Given the description of an element on the screen output the (x, y) to click on. 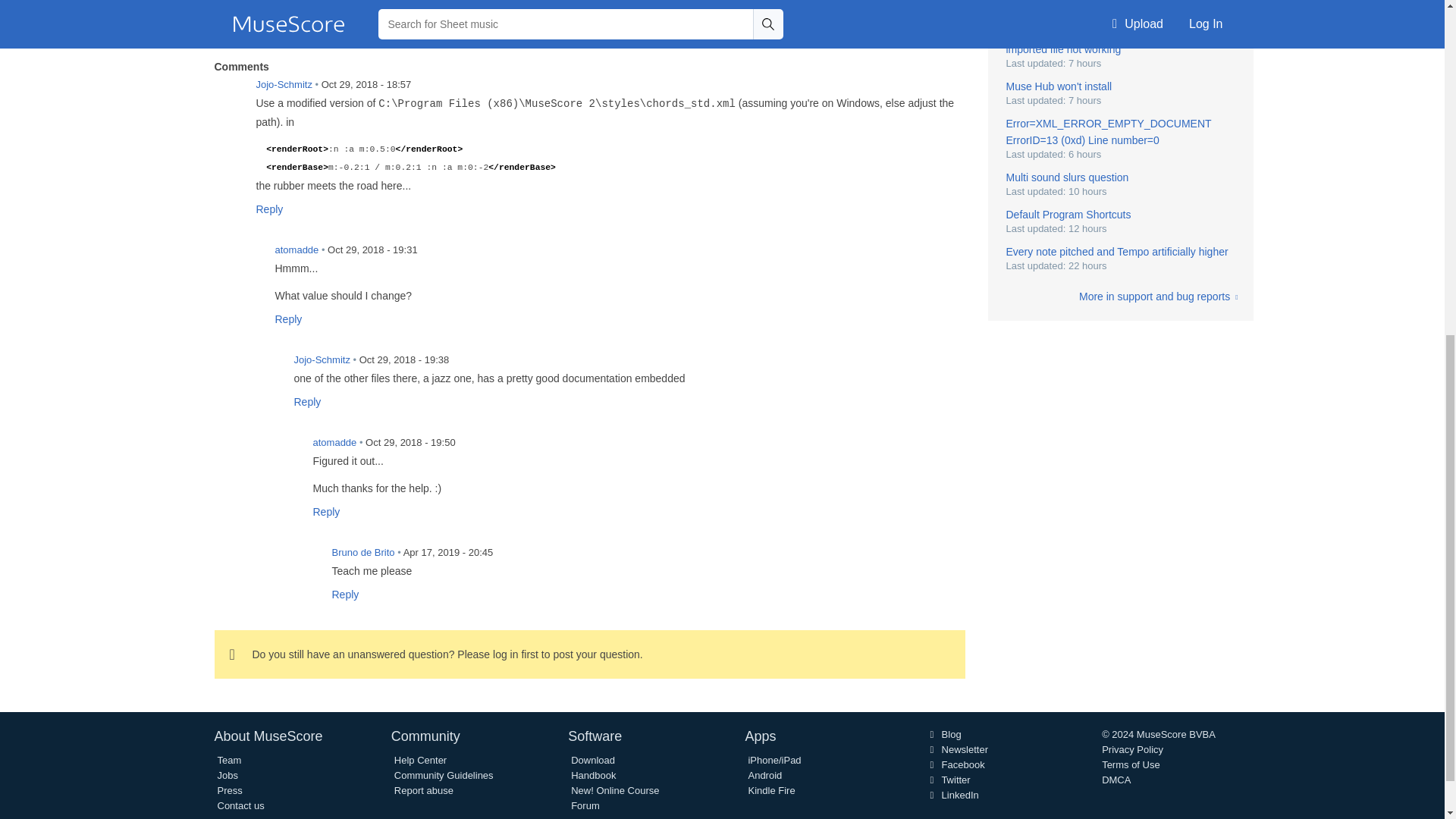
Jojo-Schmitz (229, 93)
Jojo-Schmitz (266, 368)
atomadde (285, 451)
Bruno de Brito (304, 562)
atomadde (247, 259)
